Given the description of an element on the screen output the (x, y) to click on. 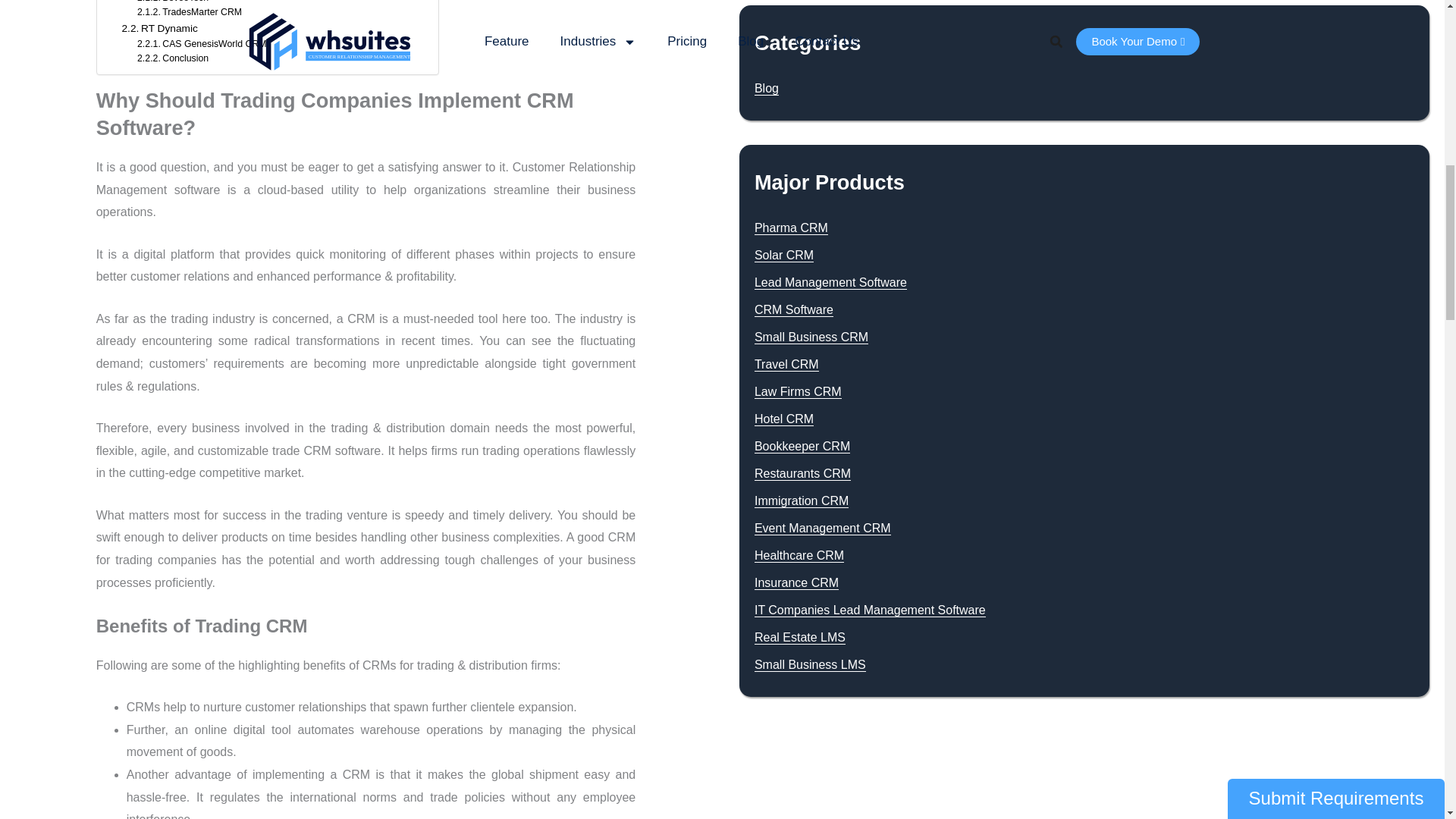
Conclusion (172, 58)
BevooTech (172, 2)
RT Dynamic (160, 28)
TradesMarter CRM (188, 12)
CAS GenesisWorld CRM (201, 44)
